Given the description of an element on the screen output the (x, y) to click on. 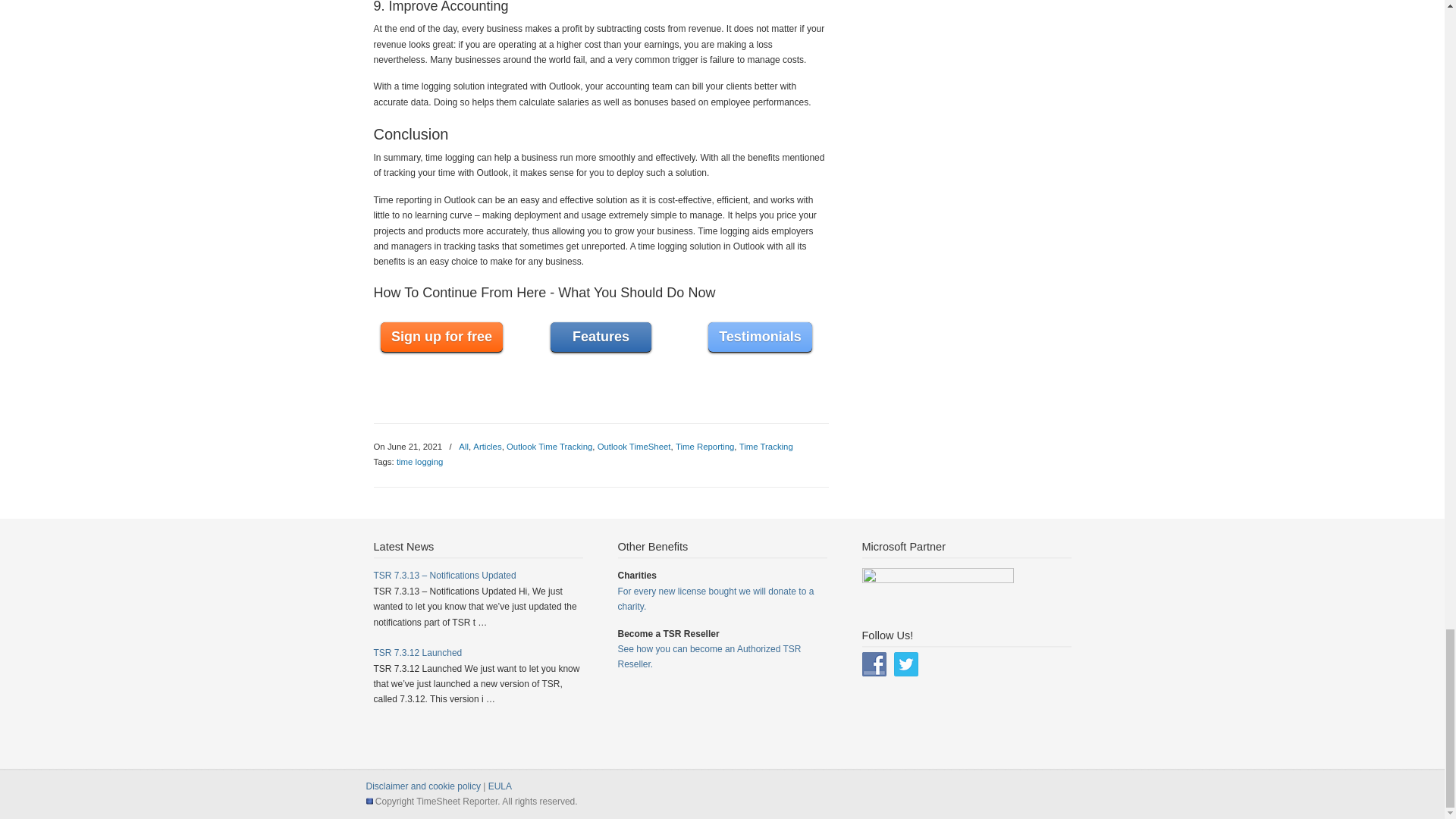
Sign up for free (441, 337)
   Features    (600, 337)
Testimonials (759, 337)
